Given the description of an element on the screen output the (x, y) to click on. 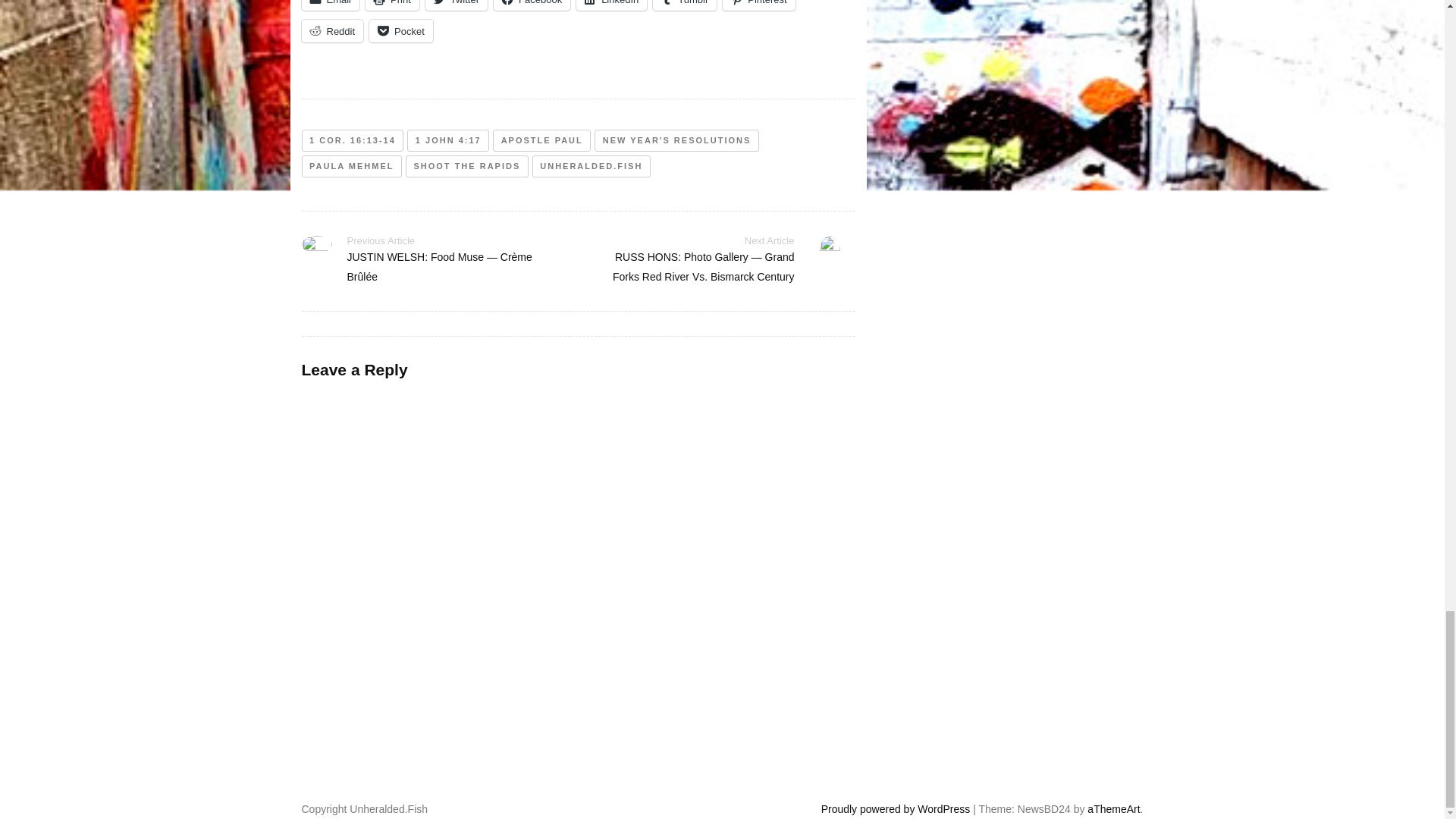
LinkedIn (611, 5)
Tumblr (684, 5)
Facebook (531, 5)
Print (392, 5)
Pinterest (758, 5)
Twitter (456, 5)
Click to share on Pocket (400, 30)
1 JOHN 4:17 (448, 140)
Click to share on Pinterest (758, 5)
Reddit (332, 30)
